Given the description of an element on the screen output the (x, y) to click on. 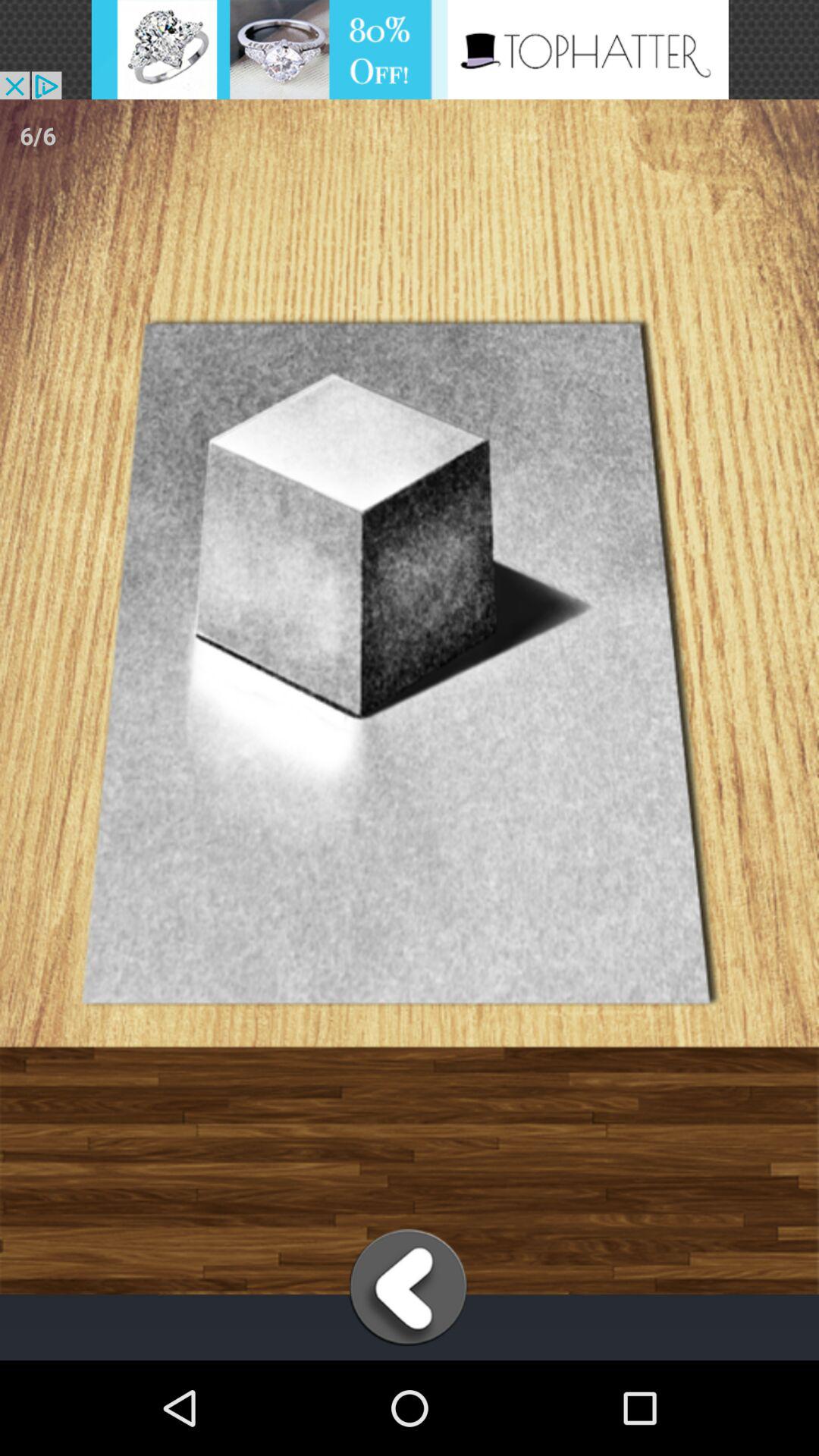
go back (409, 1288)
